Given the description of an element on the screen output the (x, y) to click on. 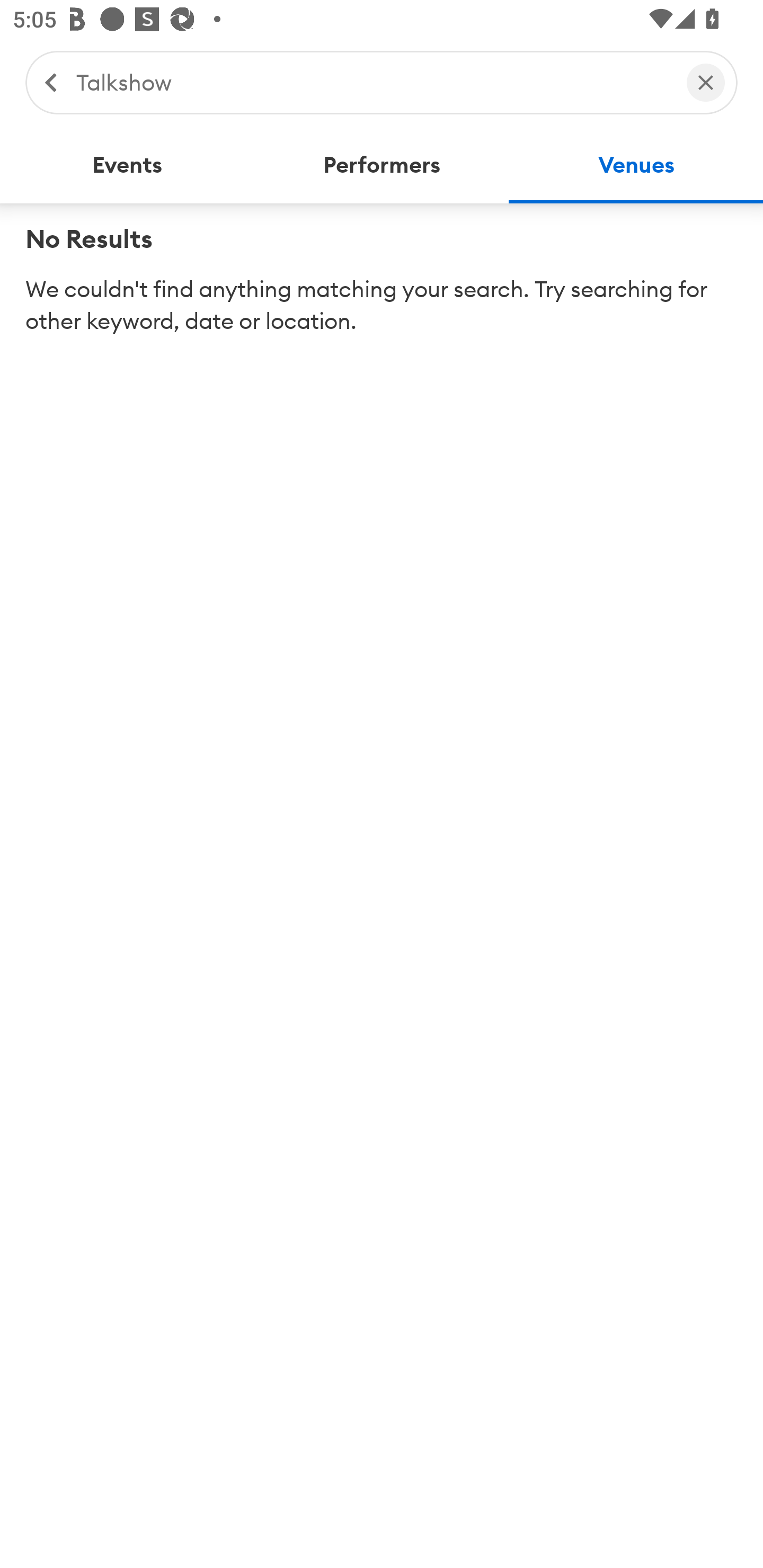
Talkshow (371, 81)
Clear Search (705, 81)
Events (127, 165)
Performers (381, 165)
